Given the description of an element on the screen output the (x, y) to click on. 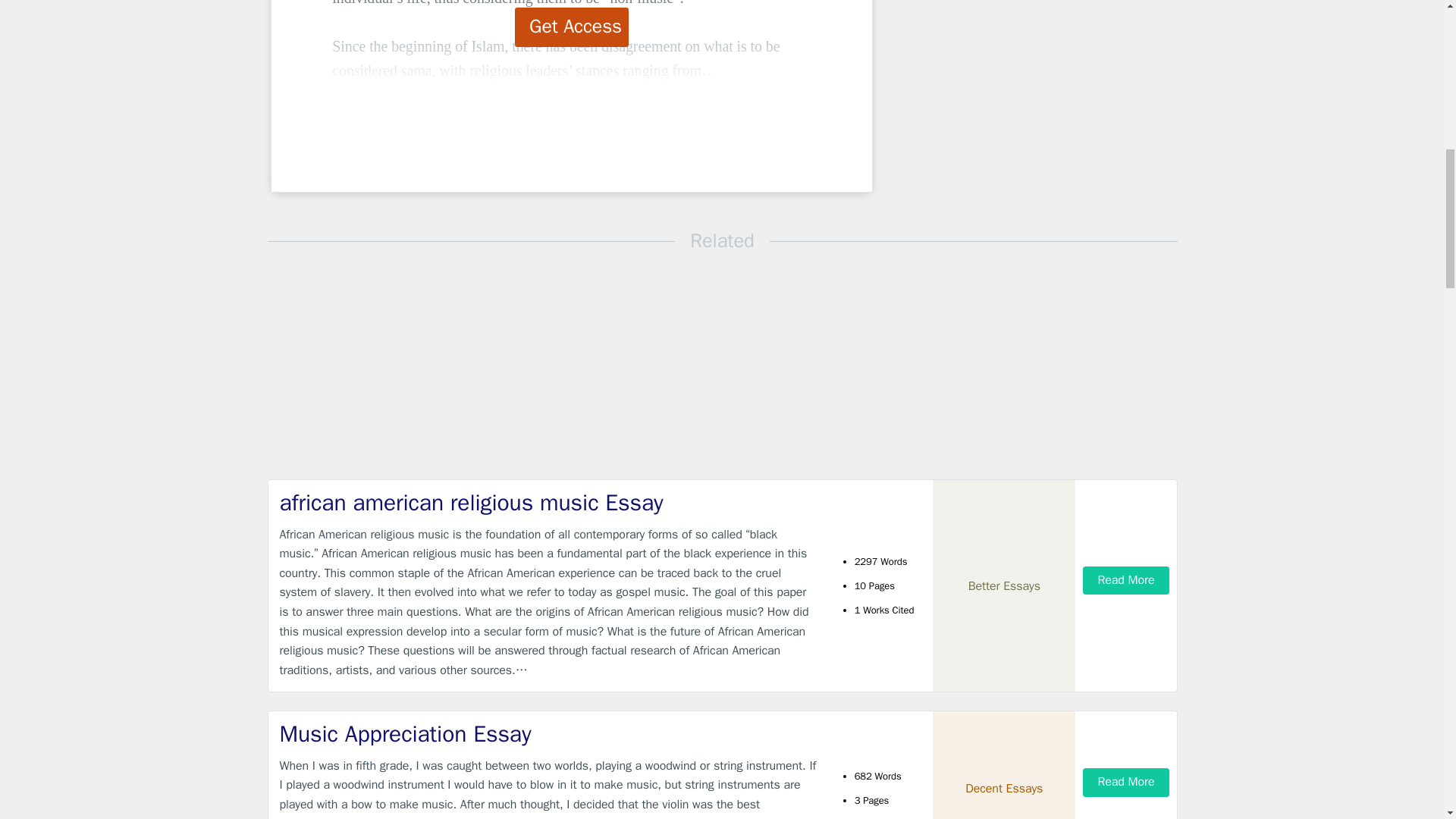
african american religious music Essay (548, 502)
Get Access (571, 26)
Read More (1126, 580)
Read More (1126, 782)
Music Appreciation Essay (548, 734)
